Given the description of an element on the screen output the (x, y) to click on. 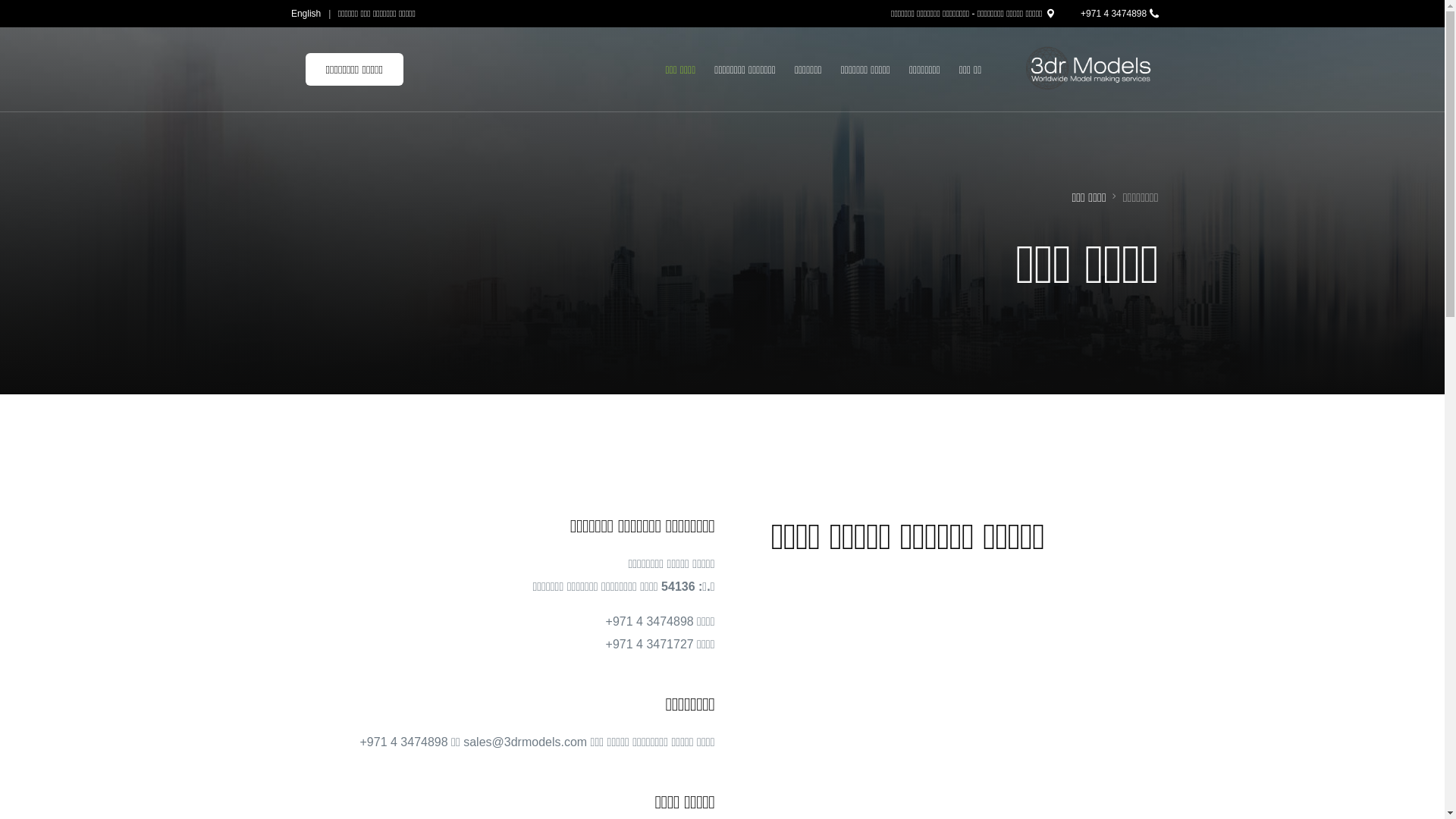
English Element type: text (307, 13)
